Given the description of an element on the screen output the (x, y) to click on. 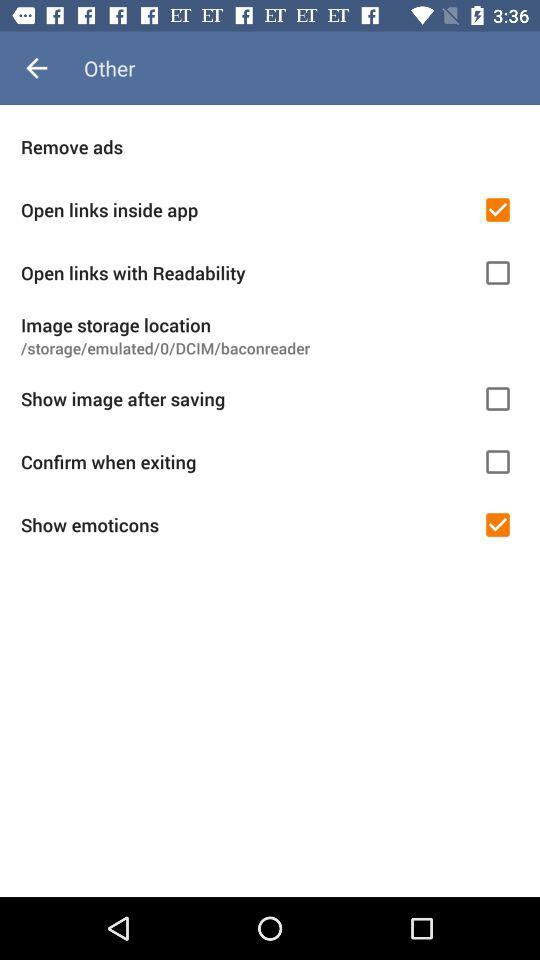
jump until show emoticons icon (245, 524)
